Given the description of an element on the screen output the (x, y) to click on. 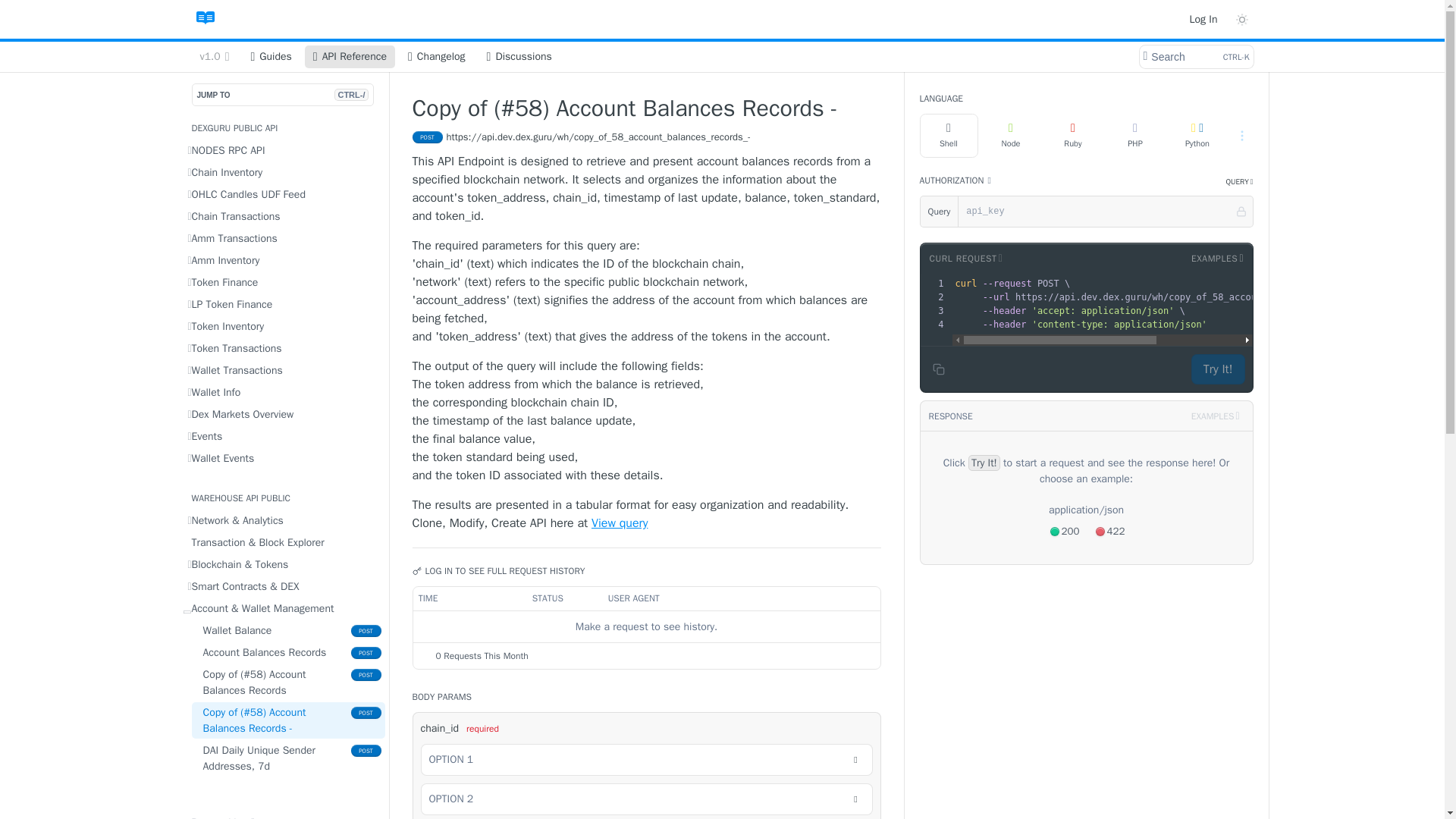
Chain Inventory (282, 172)
v1.0 (213, 56)
Chain Transactions (282, 216)
Changelog (436, 56)
OHLC Candles UDF Feed (282, 194)
Log In (1202, 18)
Discussions (519, 56)
Toggle library (965, 258)
API Reference (1195, 56)
